Given the description of an element on the screen output the (x, y) to click on. 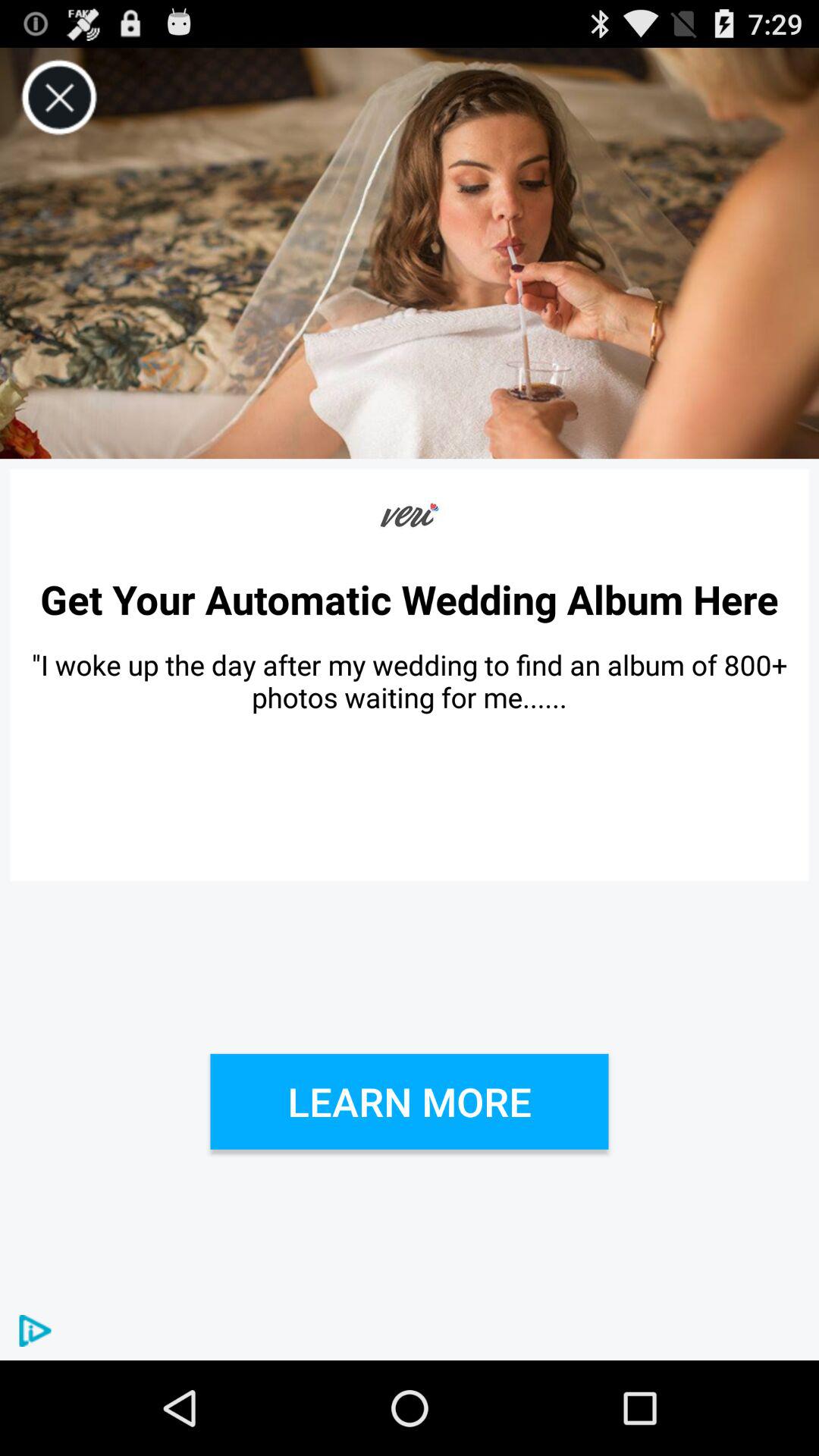
flip until the i woke up item (409, 680)
